Given the description of an element on the screen output the (x, y) to click on. 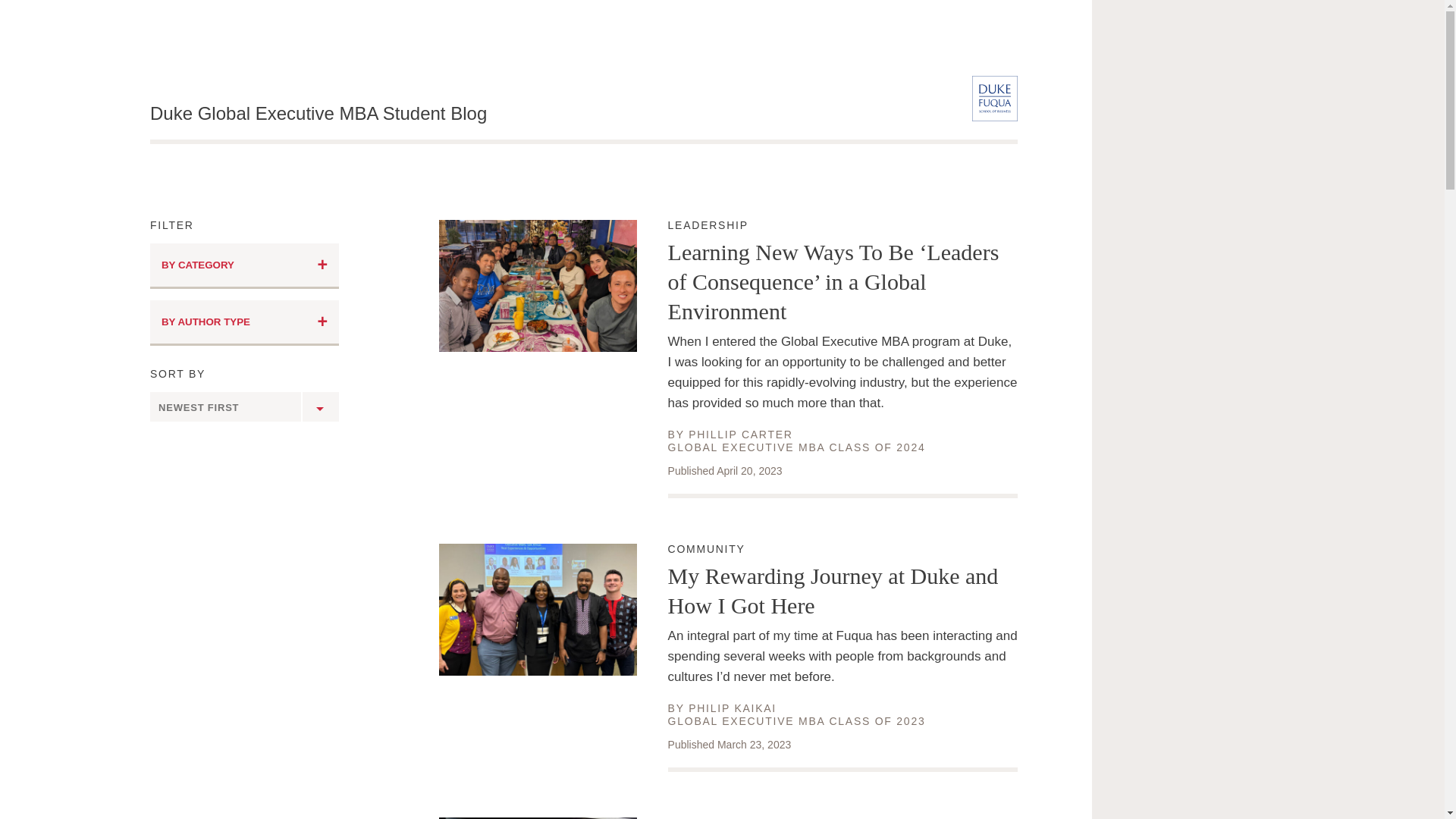
My Rewarding Journey at Duke and How I Got Here (732, 707)
BY AUTHOR TYPE (740, 434)
Duke Global Executive MBA Student Blog (244, 266)
